Given the description of an element on the screen output the (x, y) to click on. 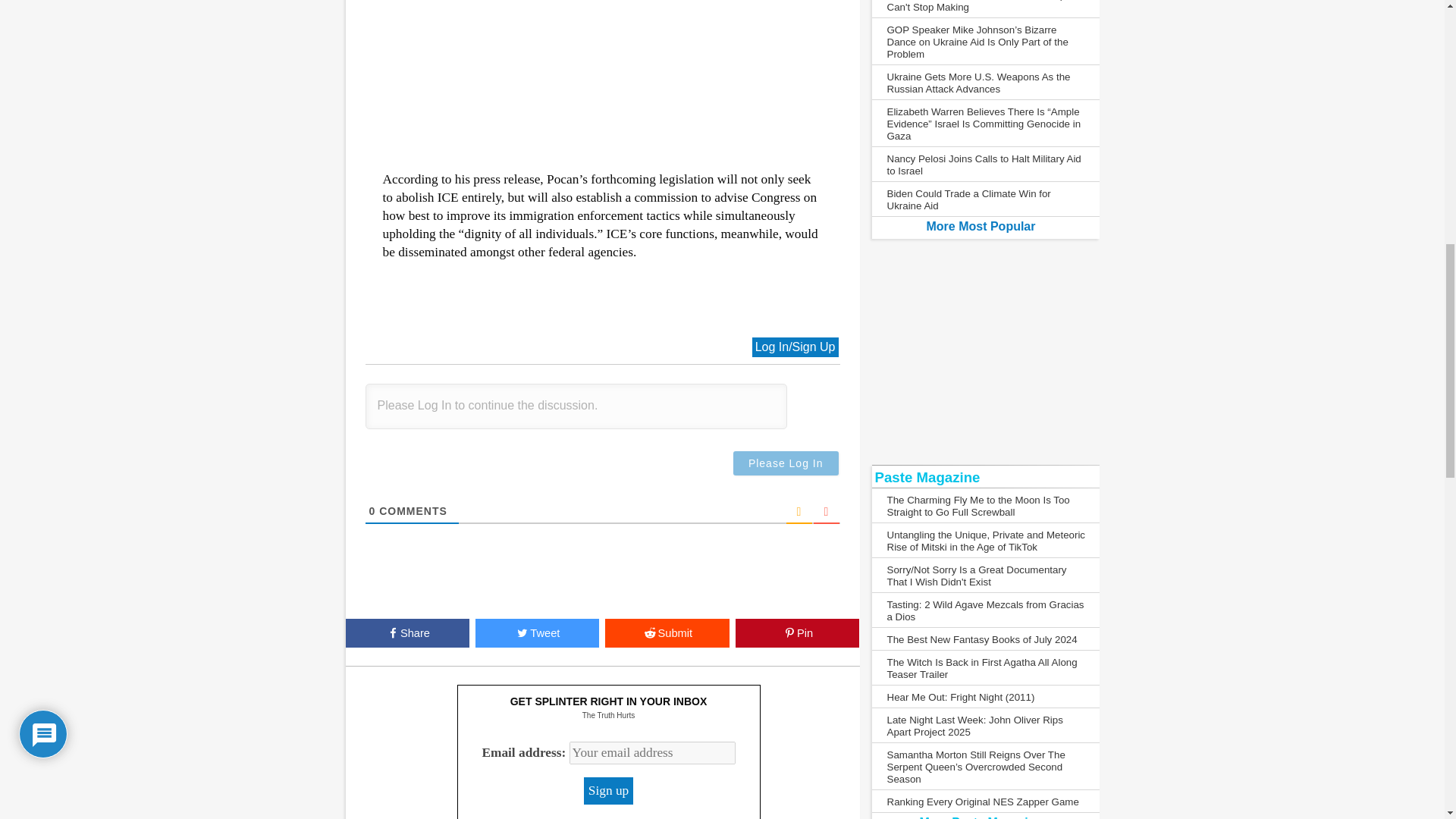
Please Log In (785, 463)
Sign up (608, 790)
